Given the description of an element on the screen output the (x, y) to click on. 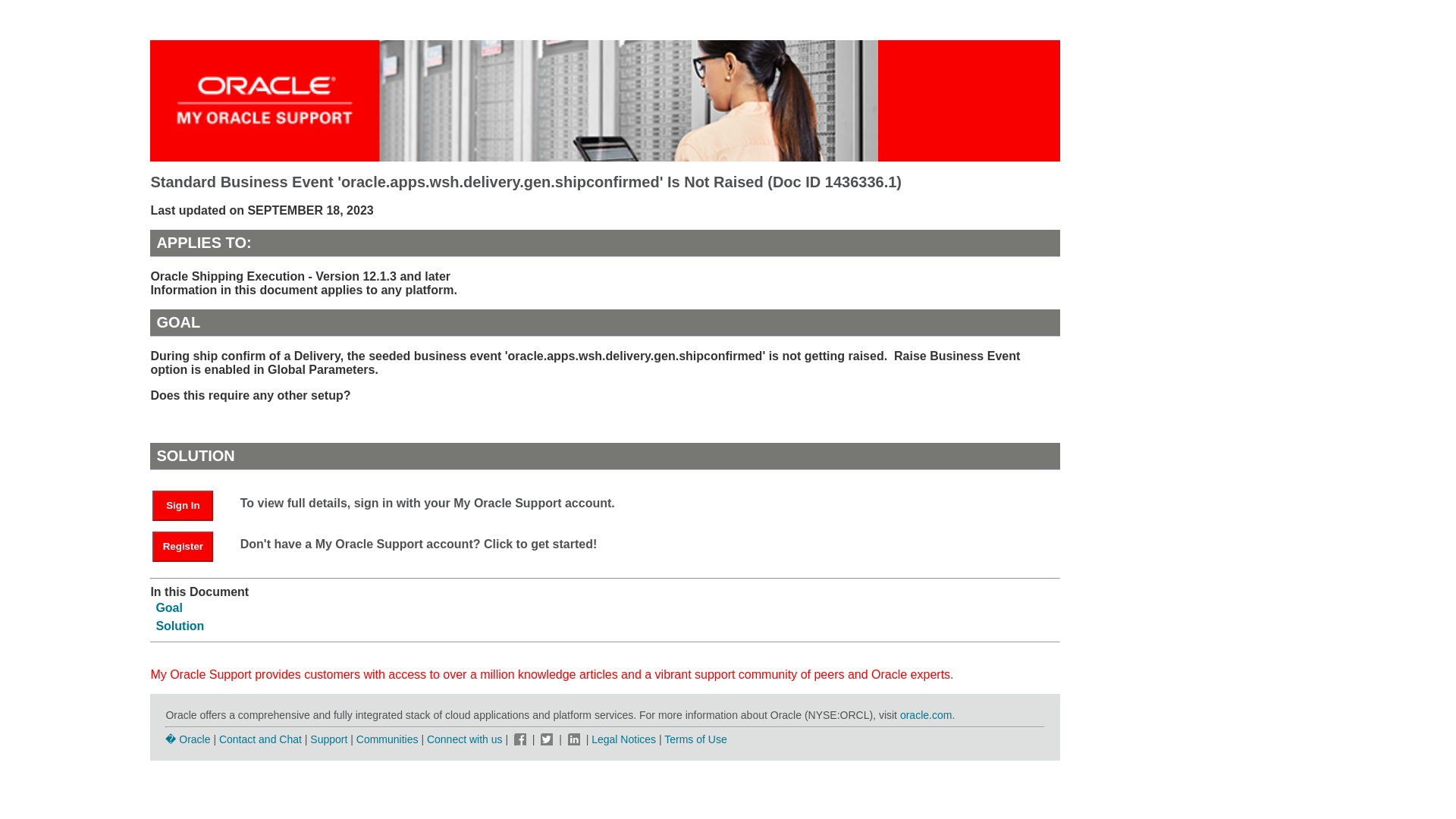
Solution (179, 625)
Goal (169, 607)
Support (328, 739)
Sign In (182, 505)
Connect with us (465, 739)
Communities (387, 739)
Sign In (190, 504)
oracle.com (925, 715)
Terms of Use (694, 739)
Contact and Chat (260, 739)
Register (182, 546)
Register (190, 545)
Legal Notices (623, 739)
oracle.com (925, 715)
